Given the description of an element on the screen output the (x, y) to click on. 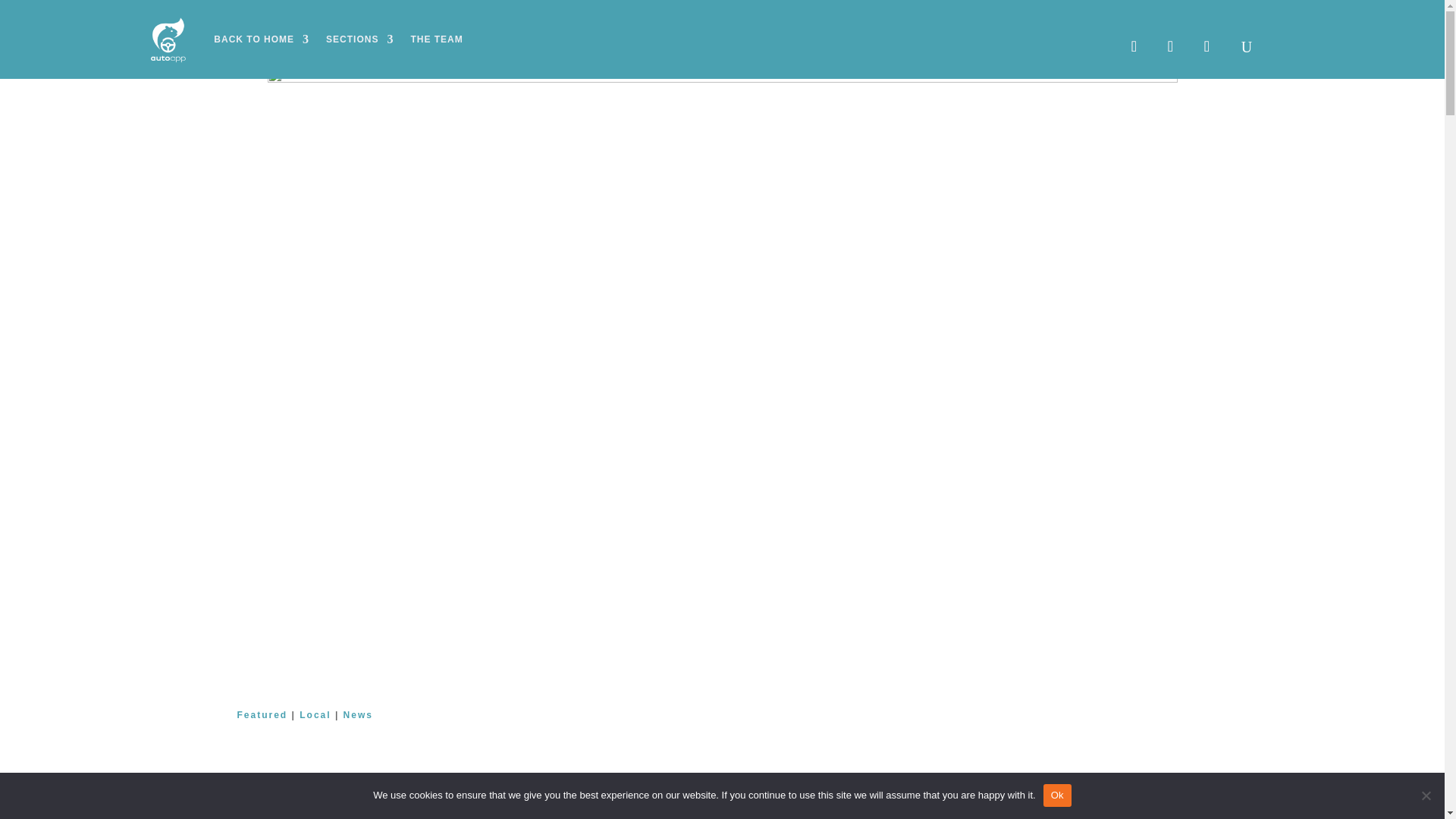
U (1246, 46)
Follow on Youtube (1206, 46)
No (1425, 795)
Featured (260, 715)
Follow on Instagram (1169, 46)
News (357, 715)
Local (314, 715)
Follow on Facebook (1133, 46)
BACK TO HOME (261, 39)
SECTIONS (359, 39)
